Given the description of an element on the screen output the (x, y) to click on. 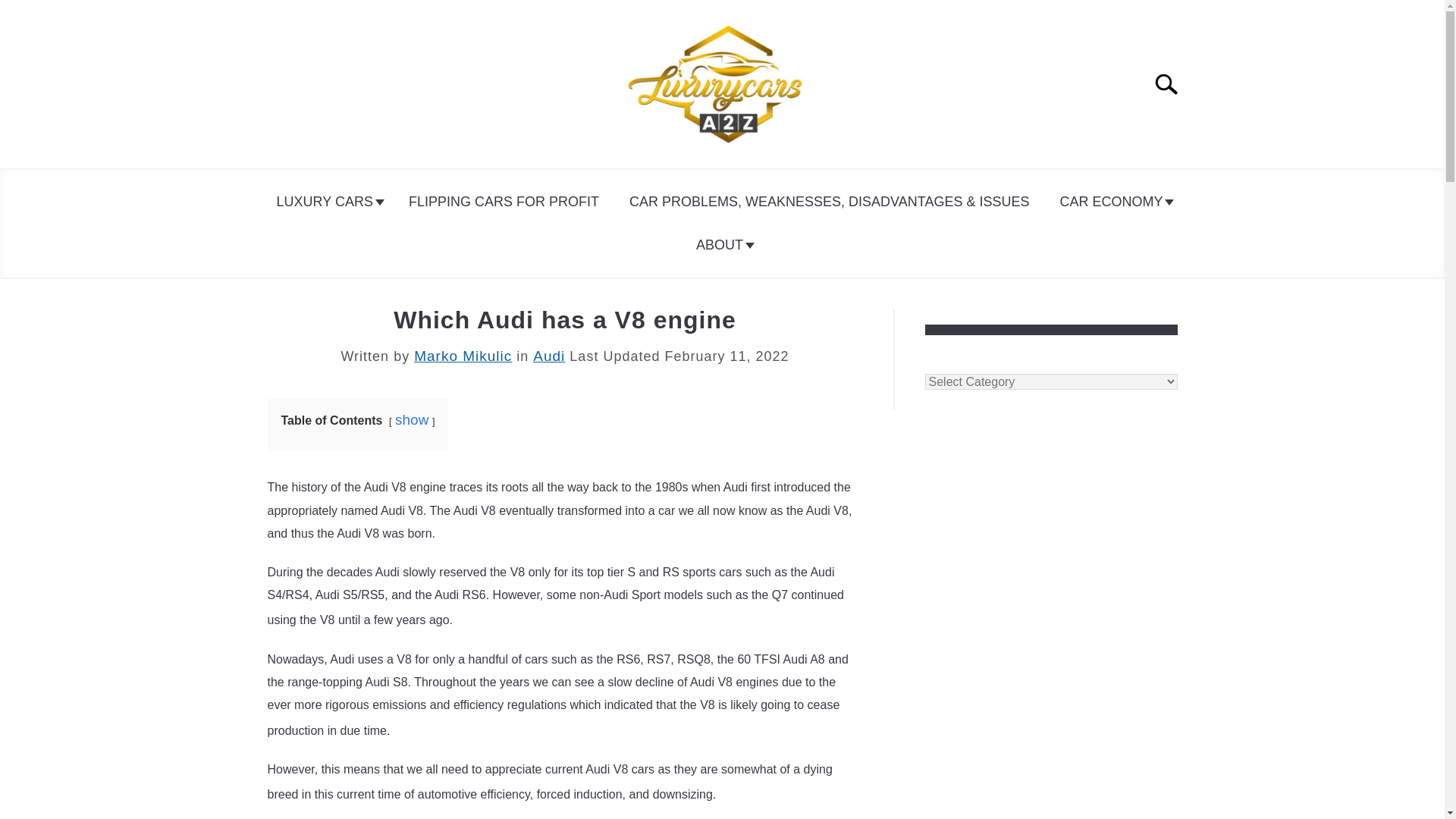
Search (1172, 83)
LUXURY CARS (327, 202)
ABOUT (721, 244)
Audi (548, 355)
Marko Mikulic (462, 355)
show (411, 419)
CAR ECONOMY (1112, 202)
FLIPPING CARS FOR PROFIT (503, 202)
